Given the description of an element on the screen output the (x, y) to click on. 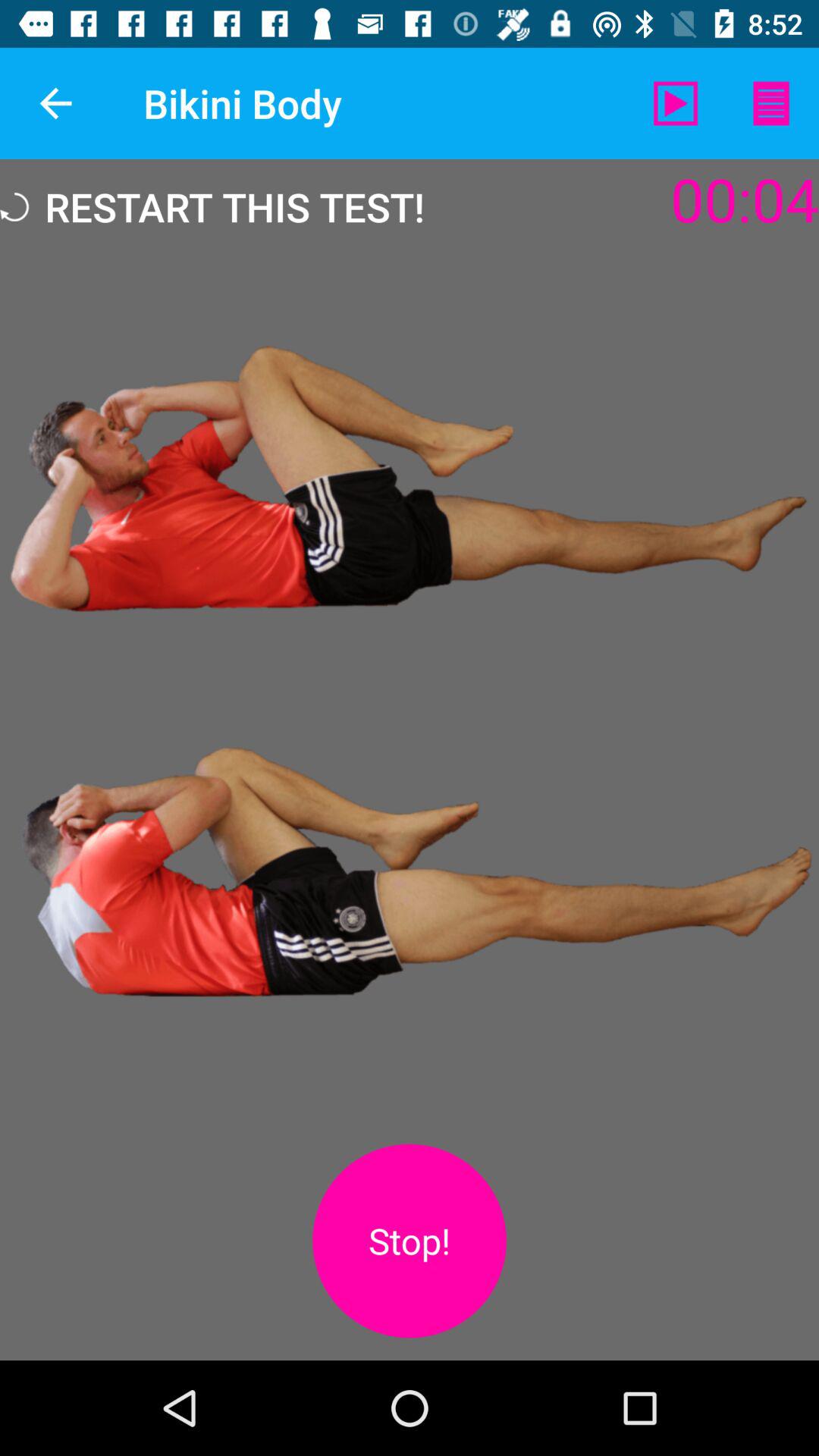
turn on restart this test! icon (212, 206)
